Given the description of an element on the screen output the (x, y) to click on. 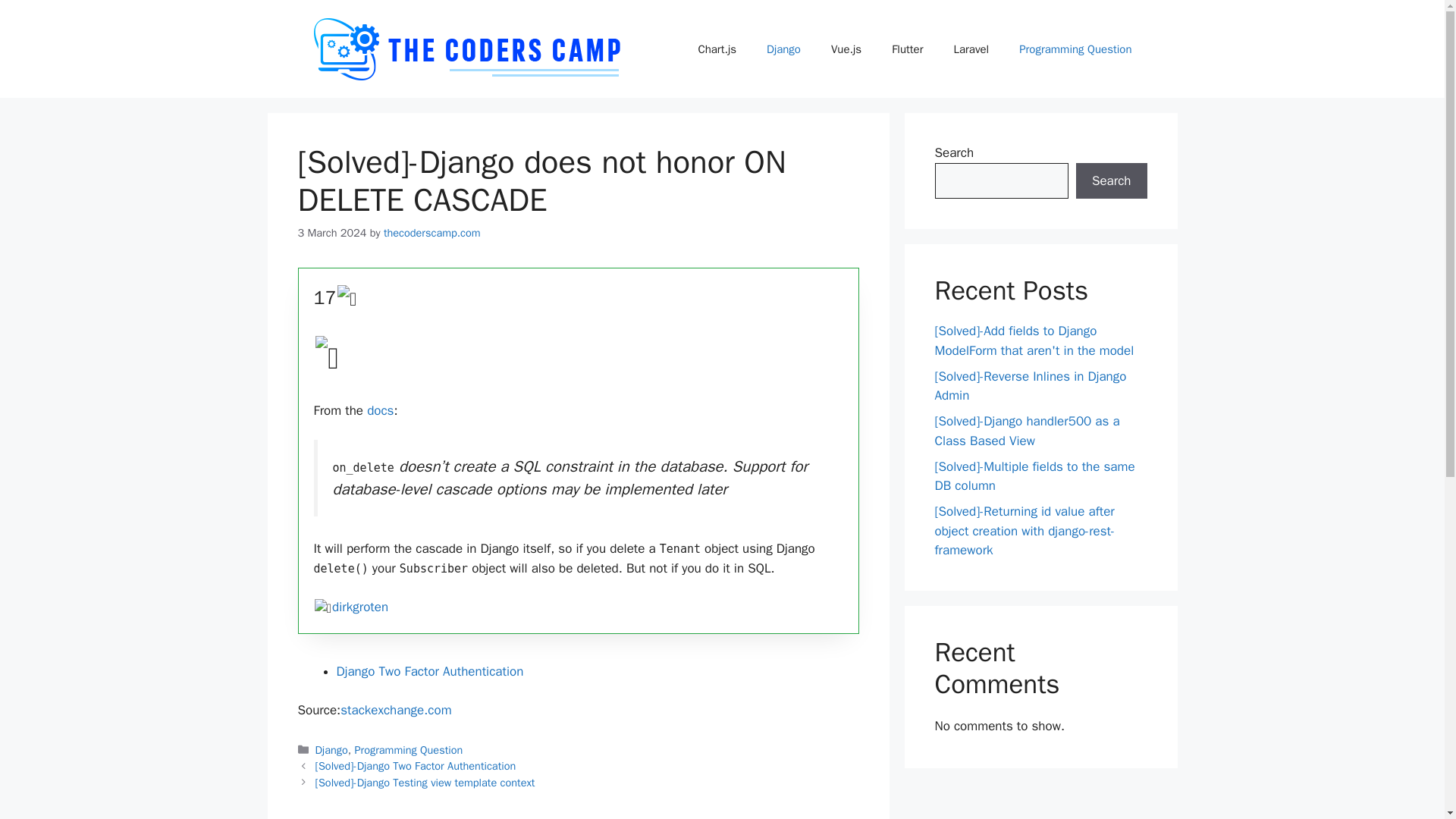
stackexchange.com (395, 709)
Programming Question (1075, 48)
Chart.js (716, 48)
Flutter (906, 48)
Search (1111, 180)
Vue.js (845, 48)
Django (783, 48)
Django (331, 749)
View all posts by thecoderscamp.com (432, 232)
dirkgroten (359, 606)
